Given the description of an element on the screen output the (x, y) to click on. 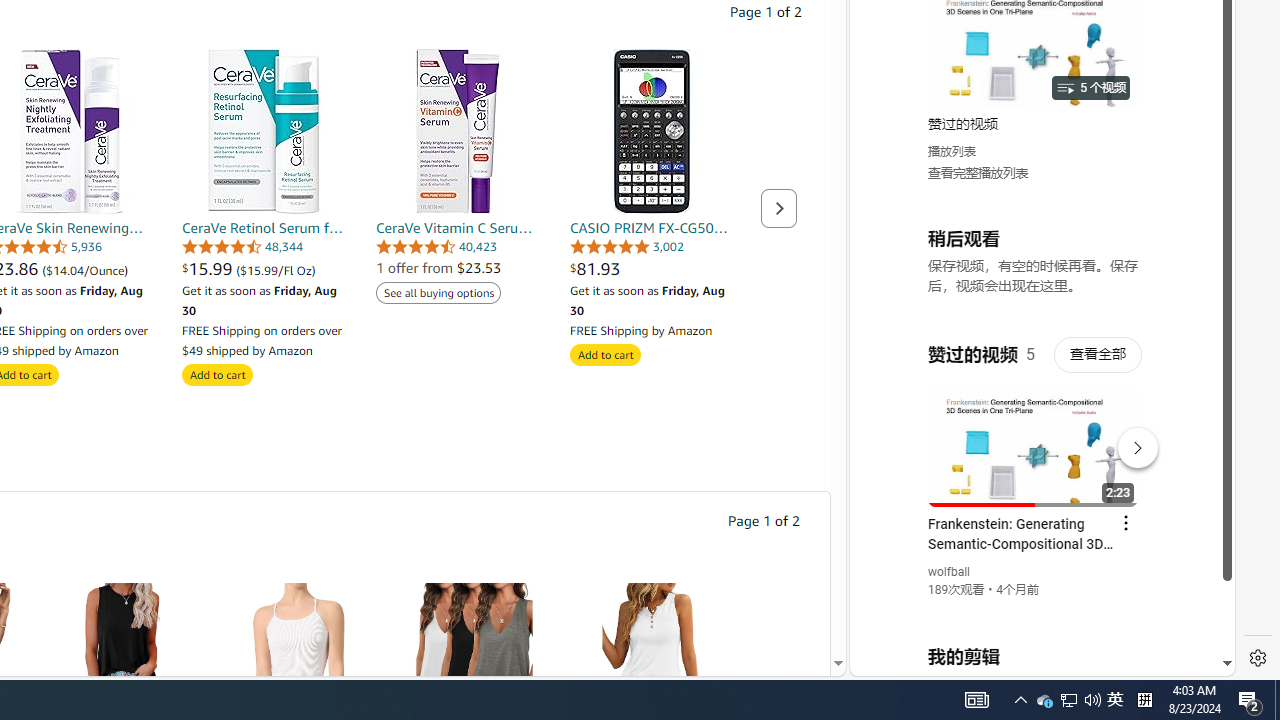
See all buying options (438, 292)
Class: a-link-normal (651, 228)
1 offer from $23.53 (438, 268)
($14.04/Ounce) (85, 269)
$15.99  (208, 268)
